Given the description of an element on the screen output the (x, y) to click on. 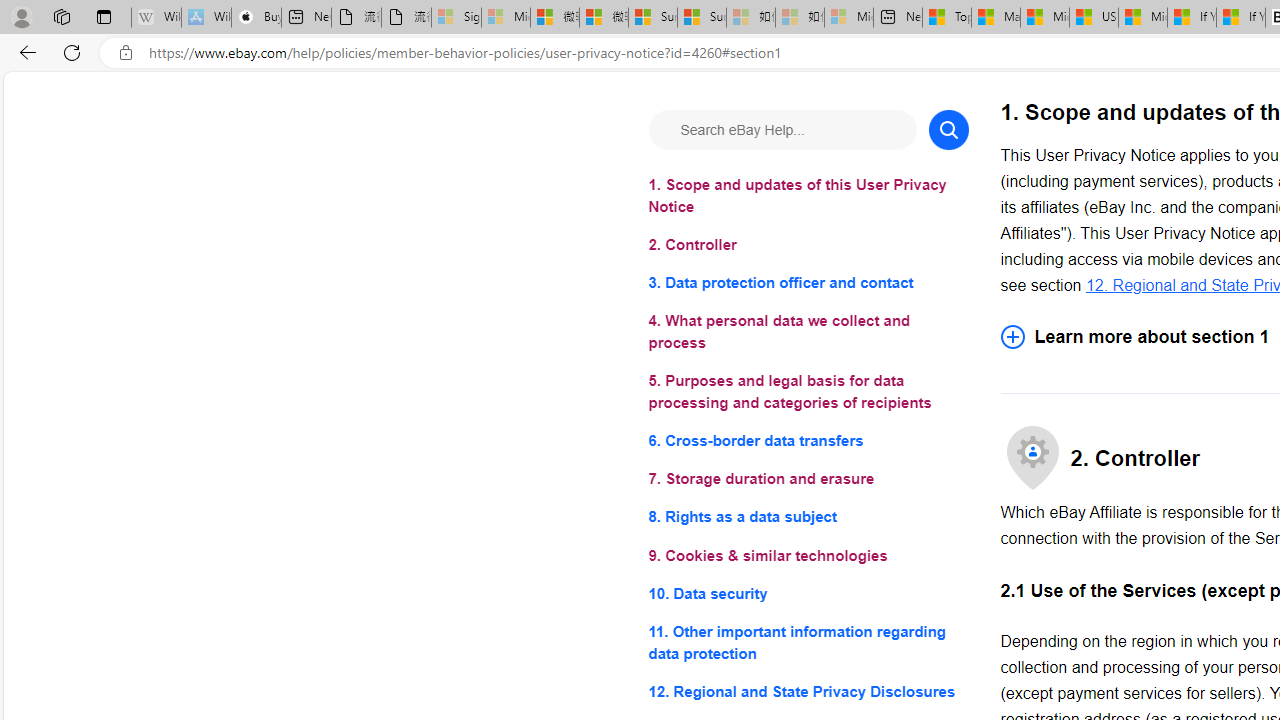
11. Other important information regarding data protection (807, 642)
4. What personal data we collect and process (807, 332)
8. Rights as a data subject (807, 517)
10. Data security (807, 592)
2. Controller (807, 245)
Search eBay Help... (781, 129)
